Given the description of an element on the screen output the (x, y) to click on. 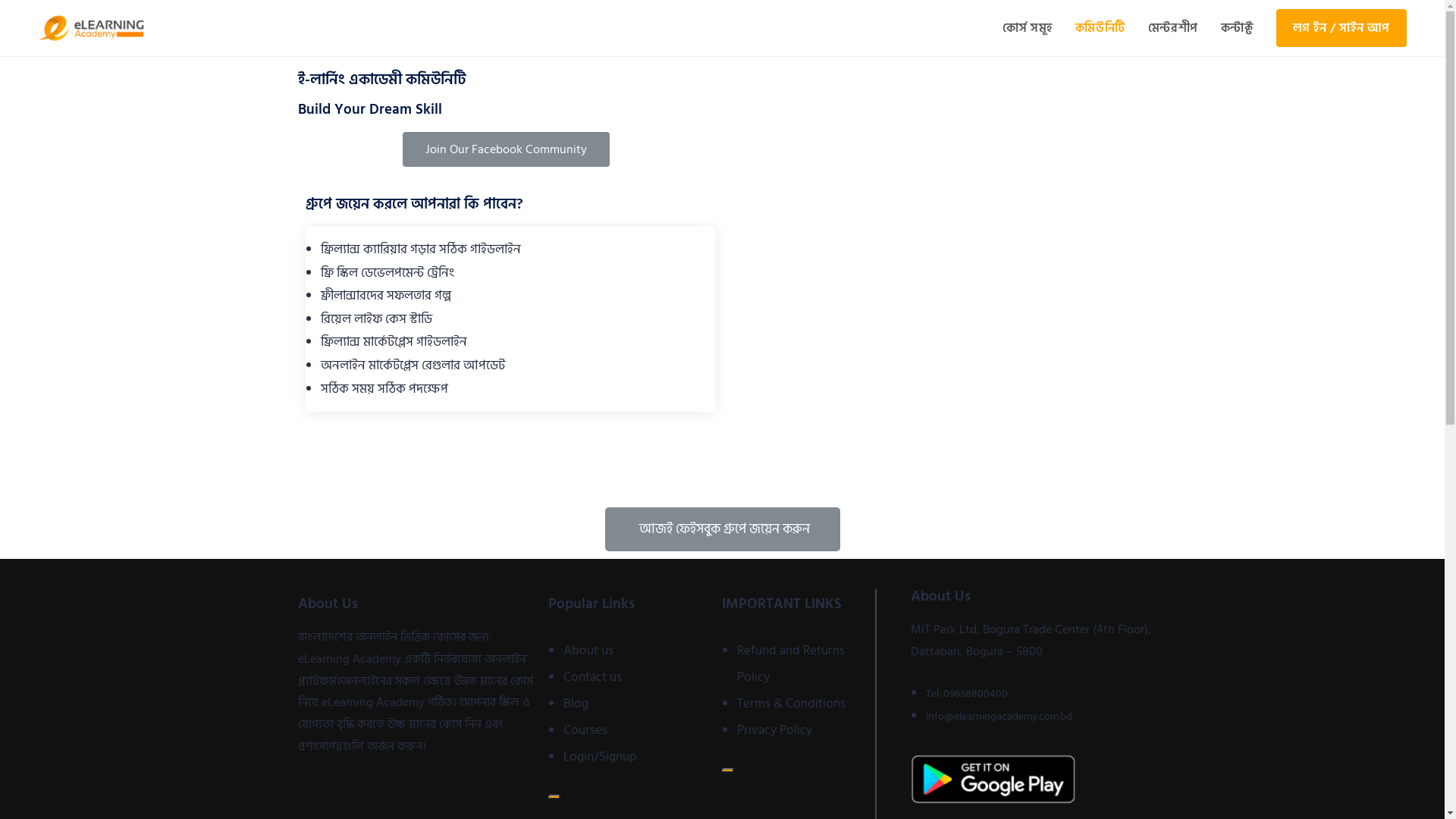
About us Element type: text (588, 650)
Contact us Element type: text (592, 676)
info@elearningacademy.com.bd Element type: text (998, 715)
Blog Element type: text (575, 703)
Courses Element type: text (585, 729)
Terms & Conditions Element type: text (791, 703)
Tel: 09638800400 Element type: text (966, 693)
Privacy Policy Element type: text (774, 729)
Refund and Returns Policy Element type: text (790, 663)
Login/Signup Element type: text (600, 756)
Join Our Facebook Community Element type: text (505, 148)
